Given the description of an element on the screen output the (x, y) to click on. 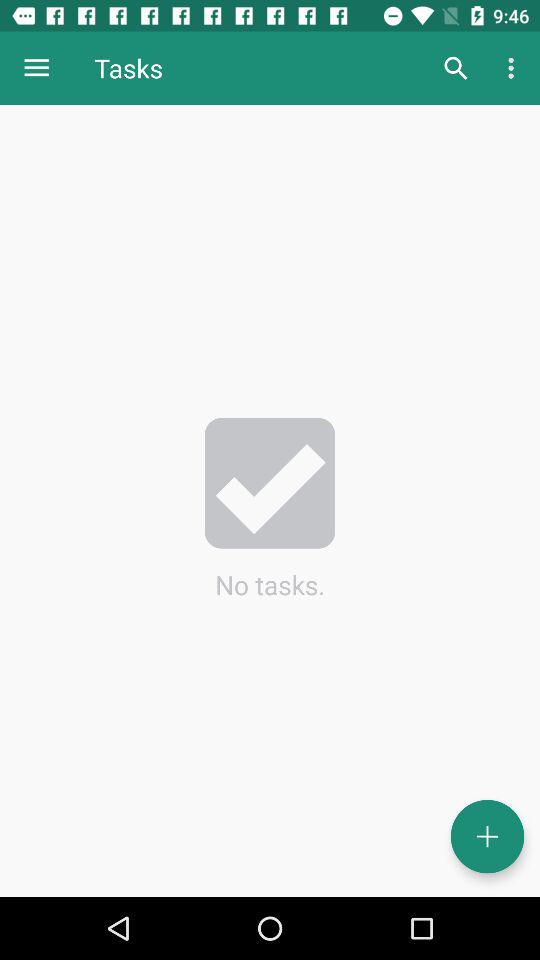
tap the icon to the right of tasks item (455, 67)
